Given the description of an element on the screen output the (x, y) to click on. 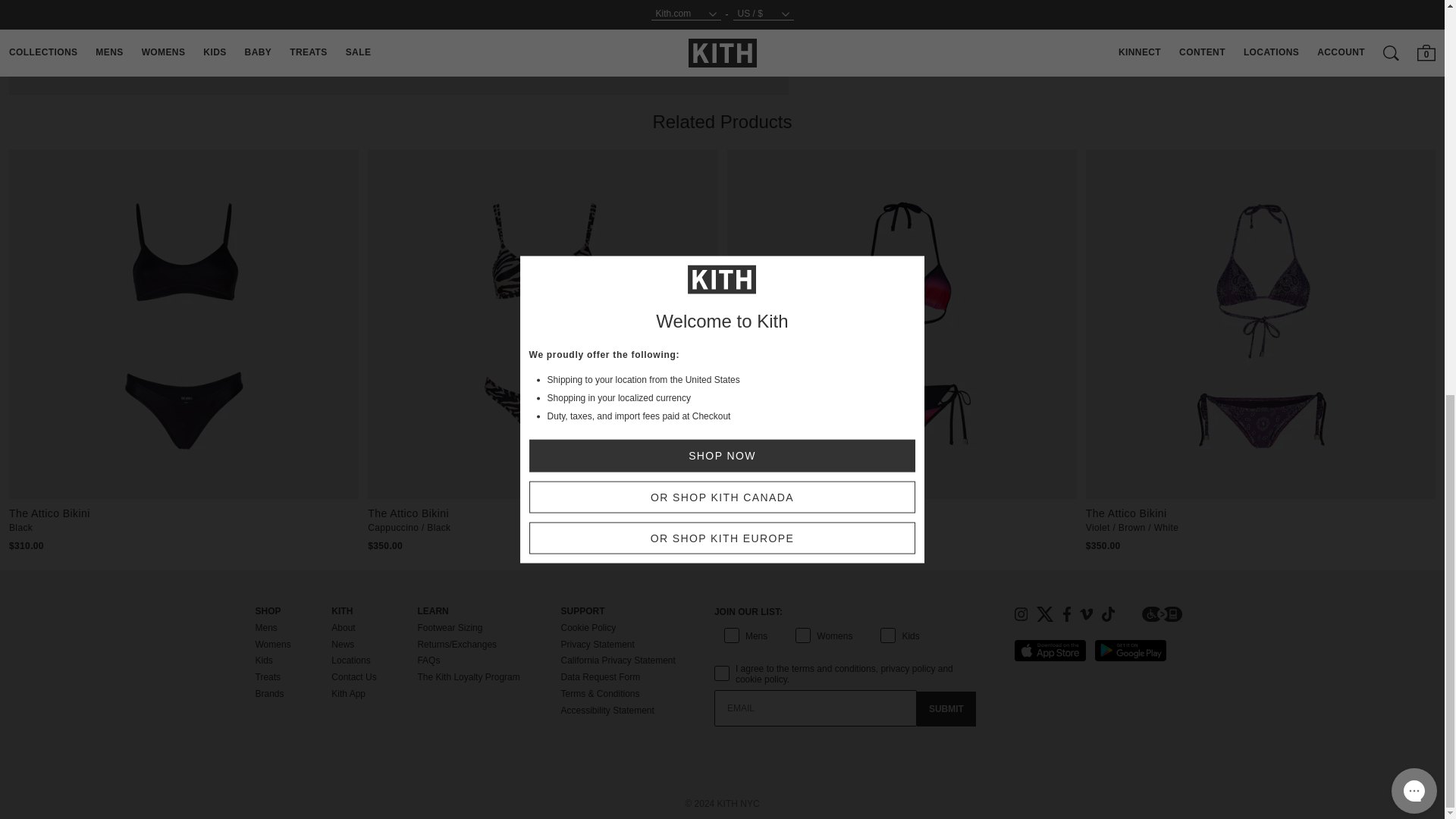
X (1044, 613)
Vimeo (1086, 613)
Instagram (1020, 613)
essential Accessibility Icon (1161, 613)
X (1044, 613)
on (718, 657)
